Given the description of an element on the screen output the (x, y) to click on. 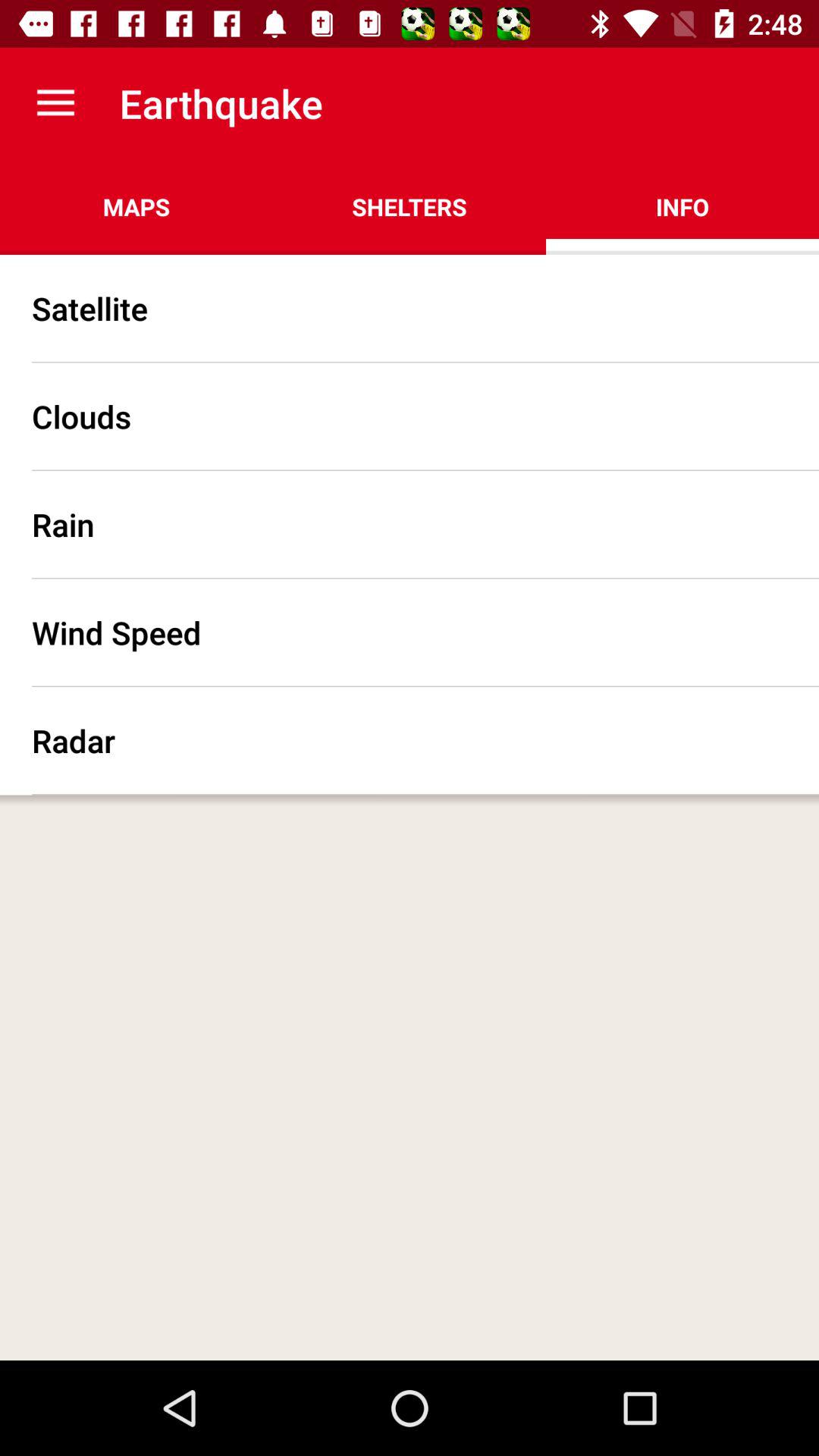
open icon above maps app (55, 103)
